Given the description of an element on the screen output the (x, y) to click on. 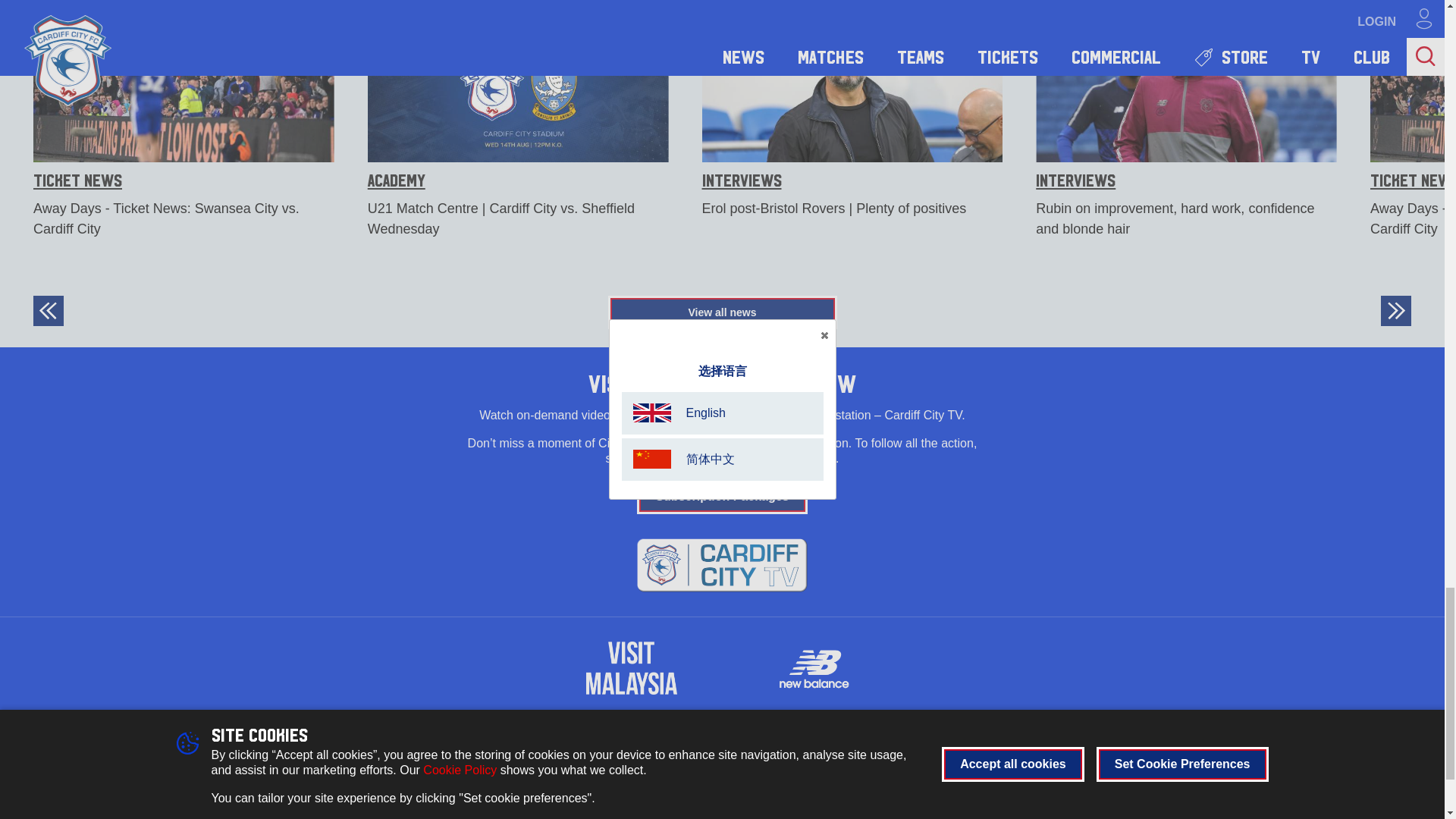
New Balance (813, 667)
Nathaniel Cars (722, 736)
Visit Malaysia (631, 667)
